Given the description of an element on the screen output the (x, y) to click on. 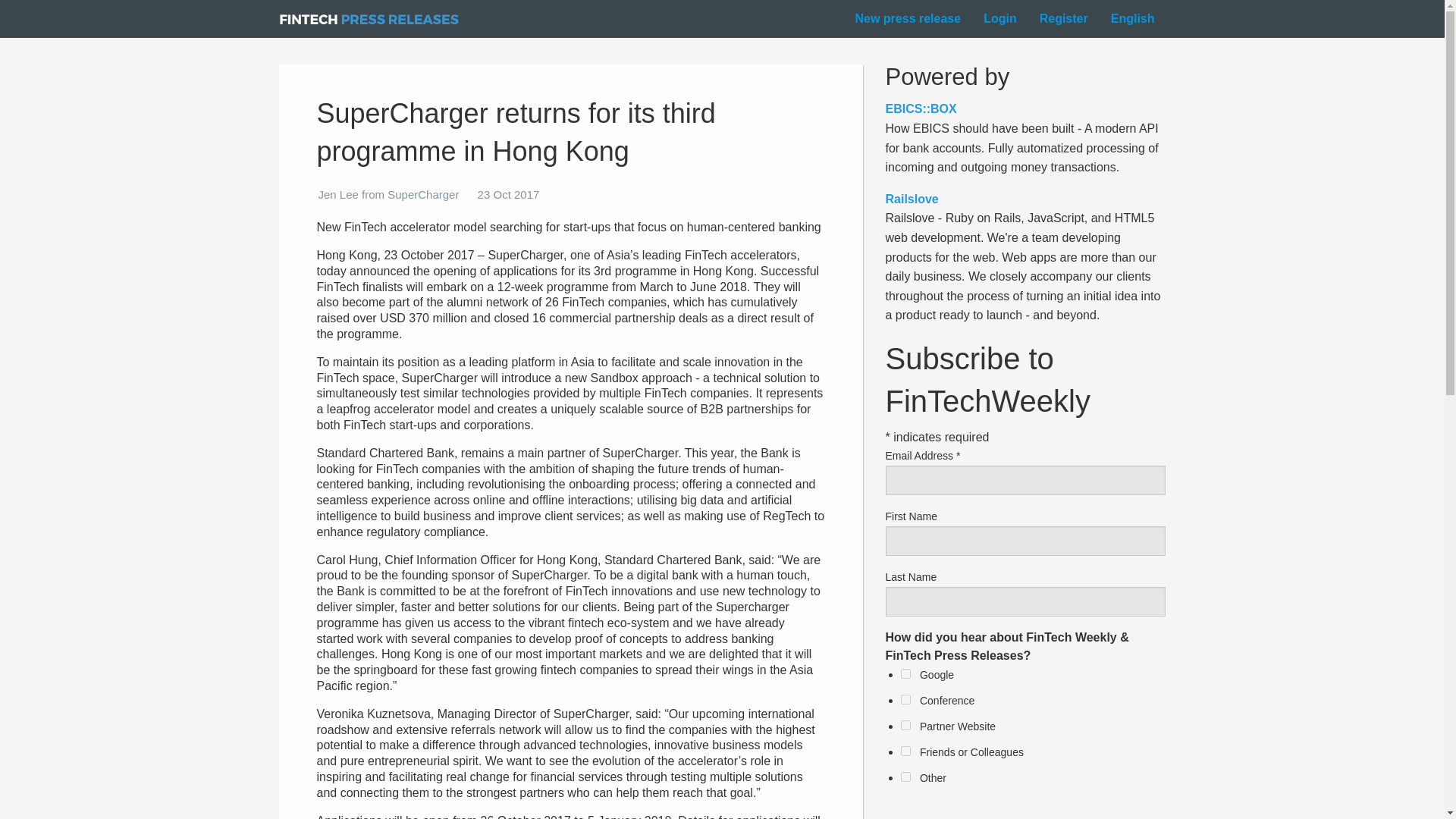
16 (906, 673)
English (1132, 18)
EBICS::BOX (920, 108)
32 (906, 699)
Register (1064, 18)
New press release (907, 18)
Railslove (912, 198)
256 (906, 777)
Login (1000, 18)
64 (906, 725)
128 (906, 750)
